Given the description of an element on the screen output the (x, y) to click on. 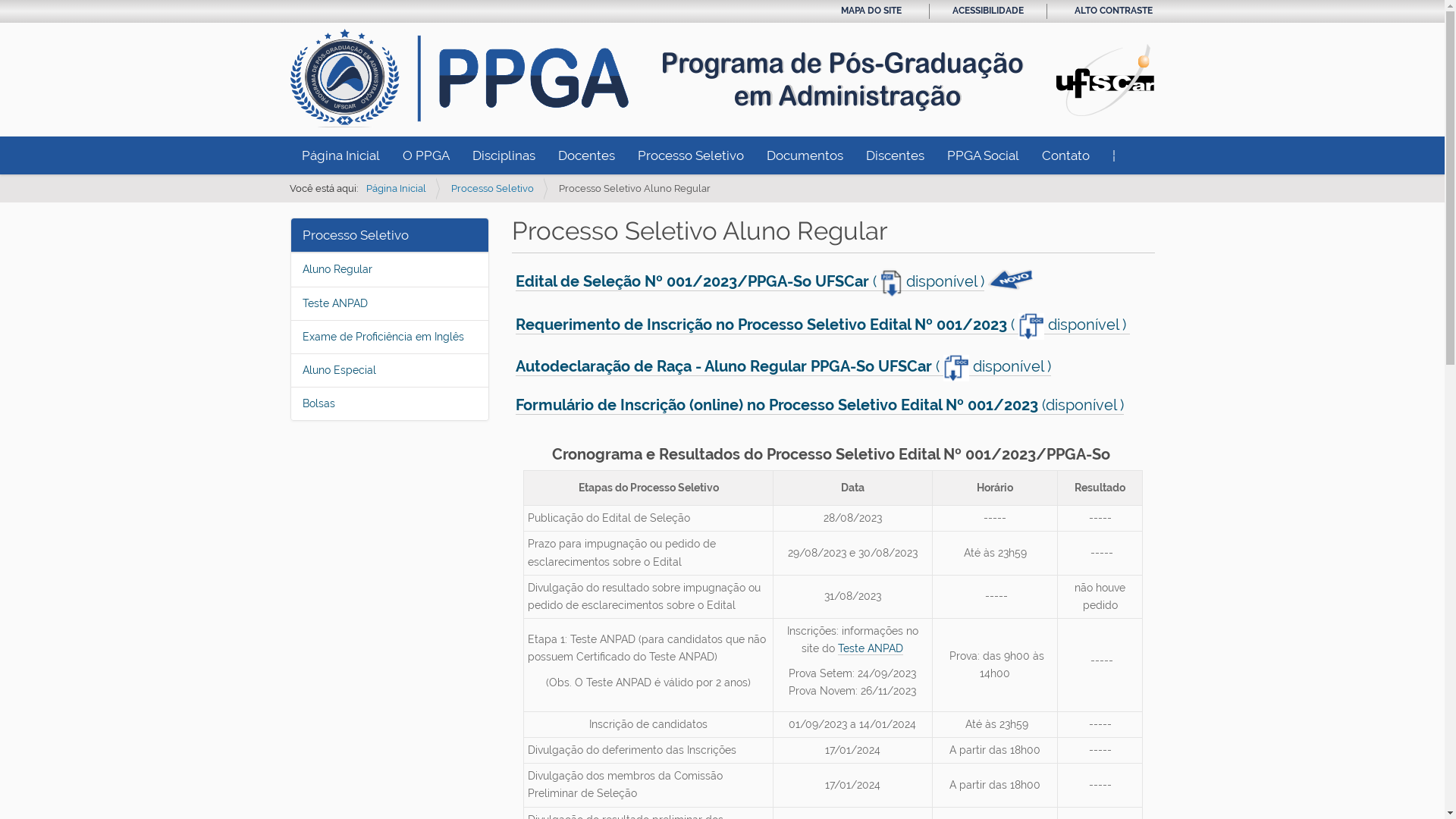
Discentes Element type: text (894, 155)
novoa.png Element type: hover (1010, 282)
PPGA Social Element type: text (982, 155)
Teste ANPAD Element type: text (870, 648)
Aluno Regular Element type: text (336, 269)
Disciplinas Element type: text (503, 155)
PDF.png Element type: hover (891, 283)
Contato Element type: text (1064, 155)
DOC 1.png Element type: hover (956, 367)
Docentes Element type: text (585, 155)
ACESSIBILIDADE Element type: text (987, 10)
Bolsas Element type: text (317, 403)
Portal UFSCar Element type: hover (1104, 78)
O PPGA Element type: text (426, 155)
ALTO CONTRASTE Element type: text (1112, 10)
Aluno Especial Element type: text (338, 370)
Documentos Element type: text (804, 155)
Processo Seletivo Element type: text (491, 188)
Processo Seletivo Element type: text (690, 155)
Teste ANPAD Element type: text (334, 303)
MAPA DO SITE Element type: text (870, 10)
DOC 1.png Element type: hover (1031, 326)
